Given the description of an element on the screen output the (x, y) to click on. 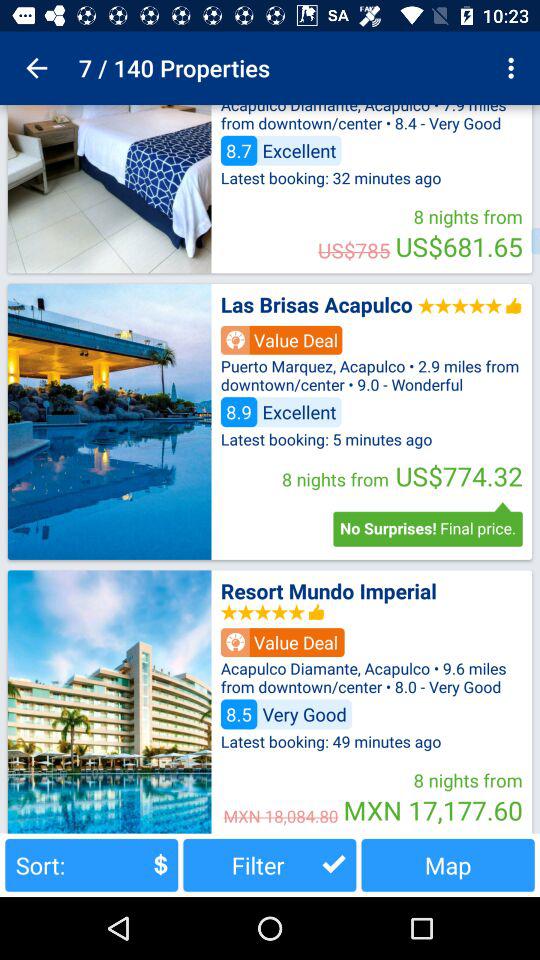
choose the icon to the left of the 7 / 140 properties item (36, 68)
